Given the description of an element on the screen output the (x, y) to click on. 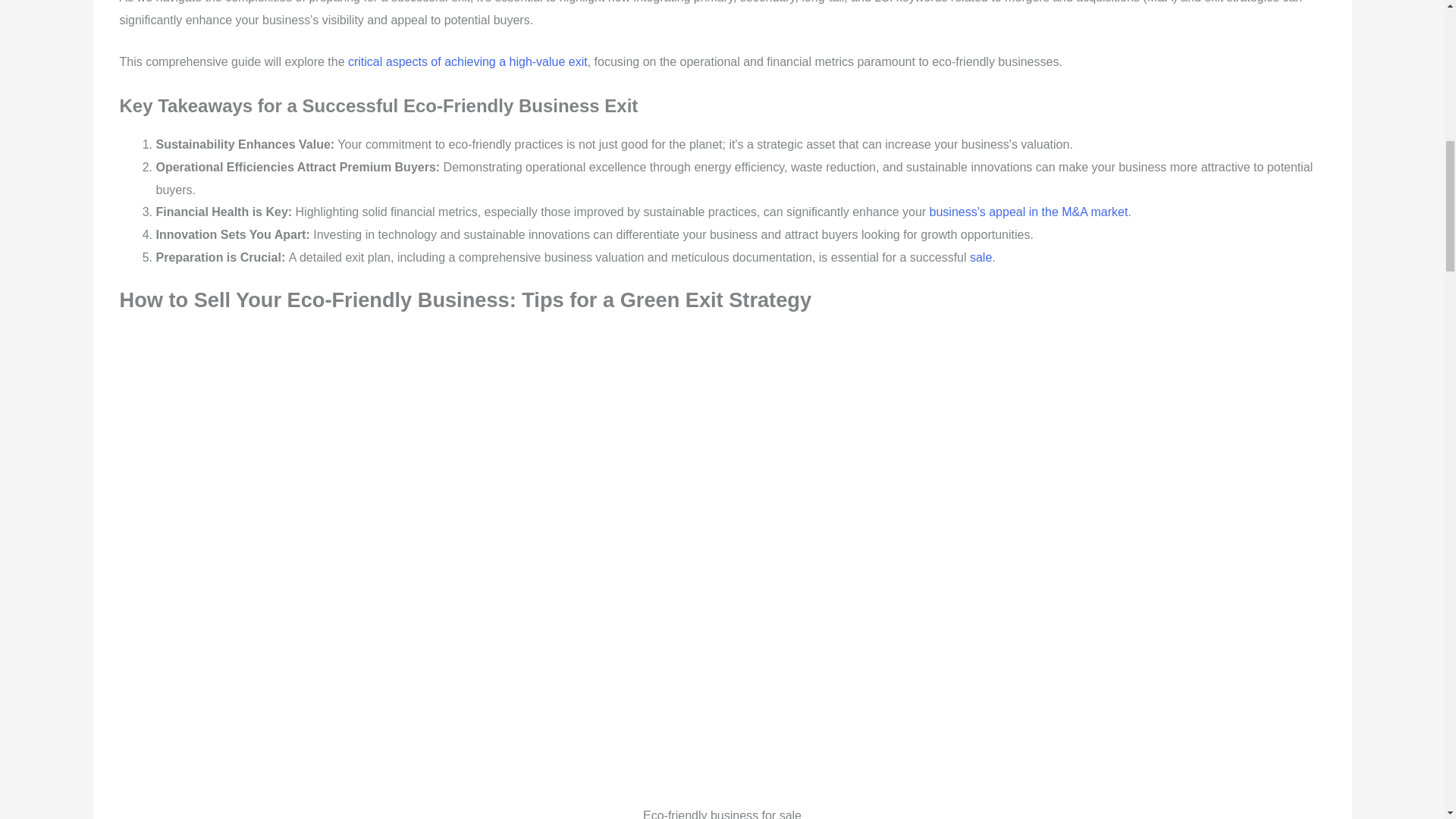
critical aspects of achieving a high-value exit (467, 61)
sale (980, 256)
sale (980, 256)
